Given the description of an element on the screen output the (x, y) to click on. 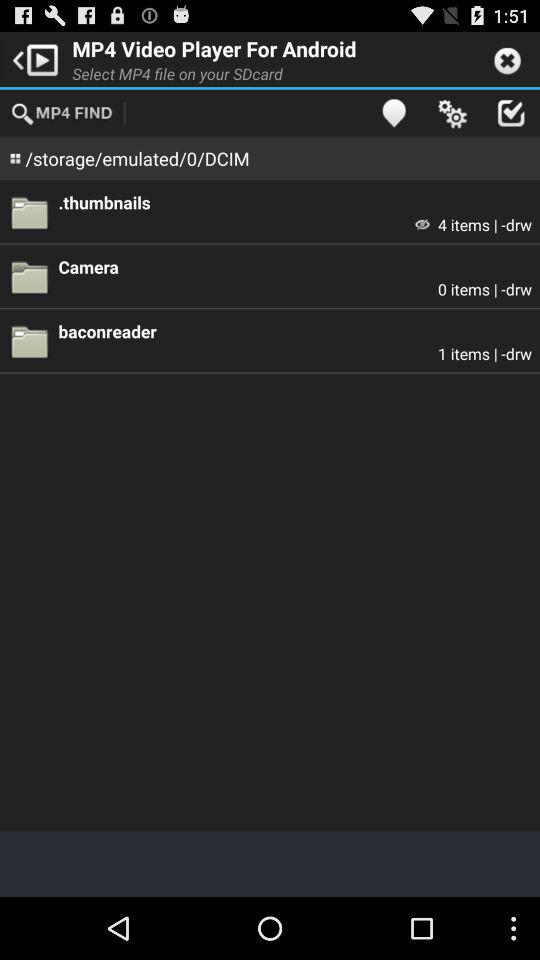
launch the icon above .thumbnails icon (393, 112)
